Given the description of an element on the screen output the (x, y) to click on. 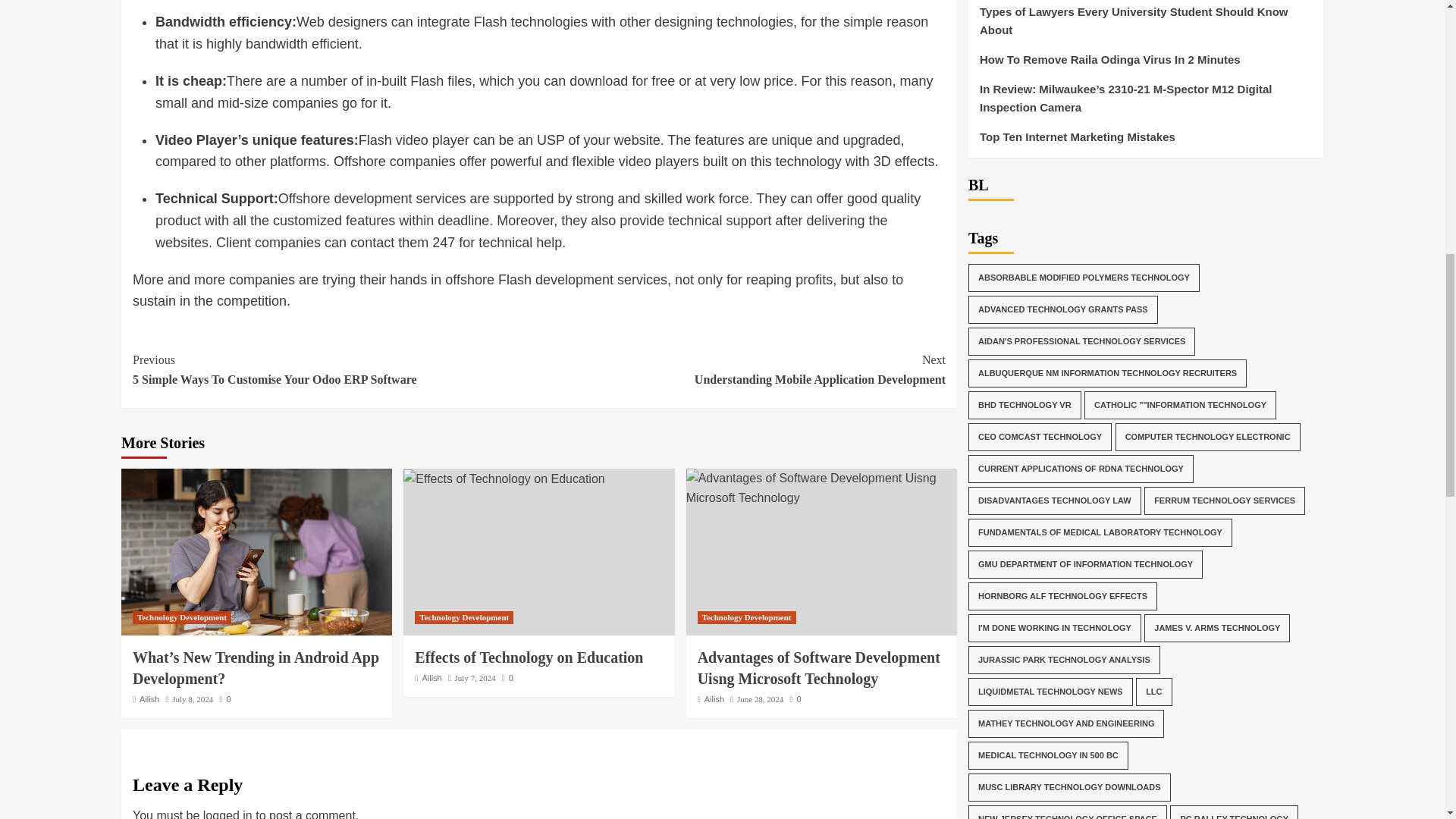
Ailish (431, 677)
Ailish (713, 698)
0 (224, 698)
July 7, 2024 (475, 677)
Technology Development (181, 617)
July 8, 2024 (191, 698)
0 (507, 677)
Technology Development (463, 617)
Ailish (148, 698)
